Given the description of an element on the screen output the (x, y) to click on. 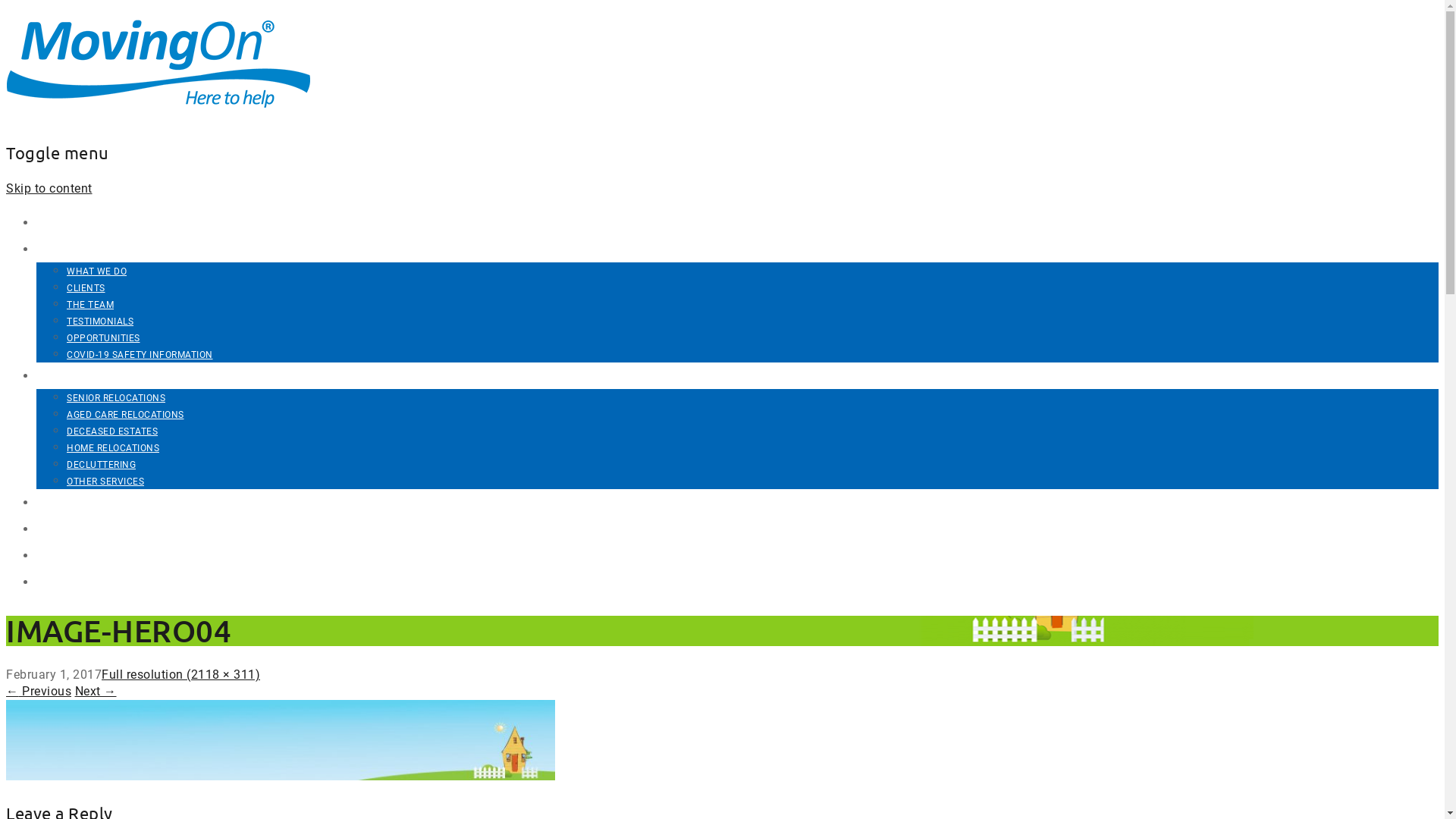
MEDIA AND AWARDS Element type: text (92, 502)
OPPORTUNITIES Element type: text (103, 337)
SENIOR RELOCATIONS Element type: text (115, 397)
DECLUTTERING Element type: text (100, 464)
OTHER SERVICES Element type: text (105, 481)
TESTIMONIALS Element type: text (99, 321)
COVID-19 SAFETY INFORMATION Element type: text (139, 354)
Skip to content Element type: text (49, 188)
SERVICES Element type: text (61, 375)
image-hero04 Element type: hover (280, 775)
WHAT WE DO Element type: text (96, 271)
HOME Element type: text (52, 222)
1300 435 763 Element type: text (71, 581)
Moving On Element type: hover (158, 115)
CONTACT US Element type: text (70, 555)
AGED CARE RELOCATIONS Element type: text (125, 414)
CLIENTS Element type: text (85, 287)
ABOUT Element type: text (55, 248)
THE TEAM Element type: text (89, 304)
HOME RELOCATIONS Element type: text (112, 447)
DECEASED ESTATES Element type: text (111, 431)
FAQS Element type: text (50, 528)
